Given the description of an element on the screen output the (x, y) to click on. 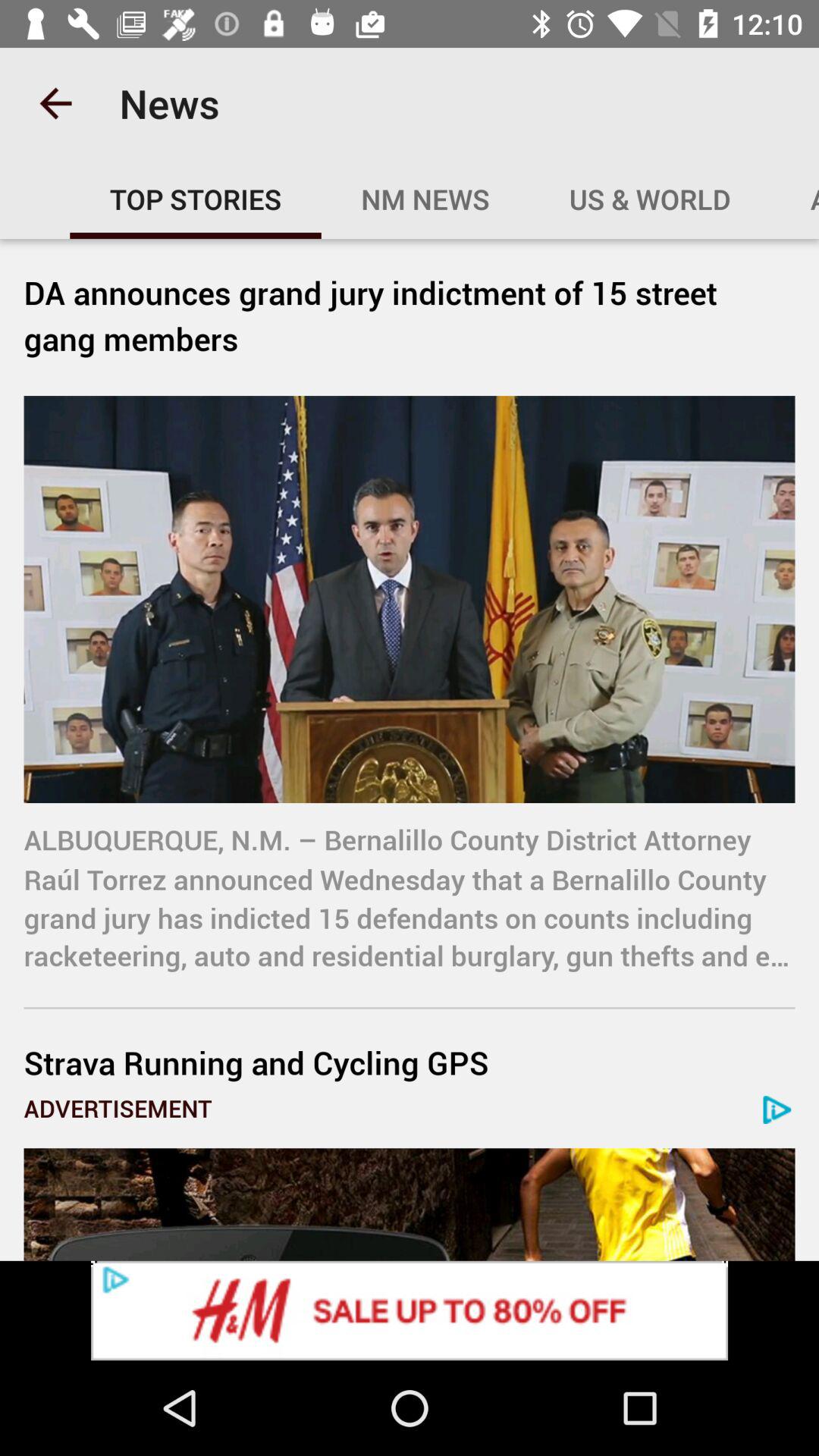
h.m. sale advertisement (409, 1310)
